Given the description of an element on the screen output the (x, y) to click on. 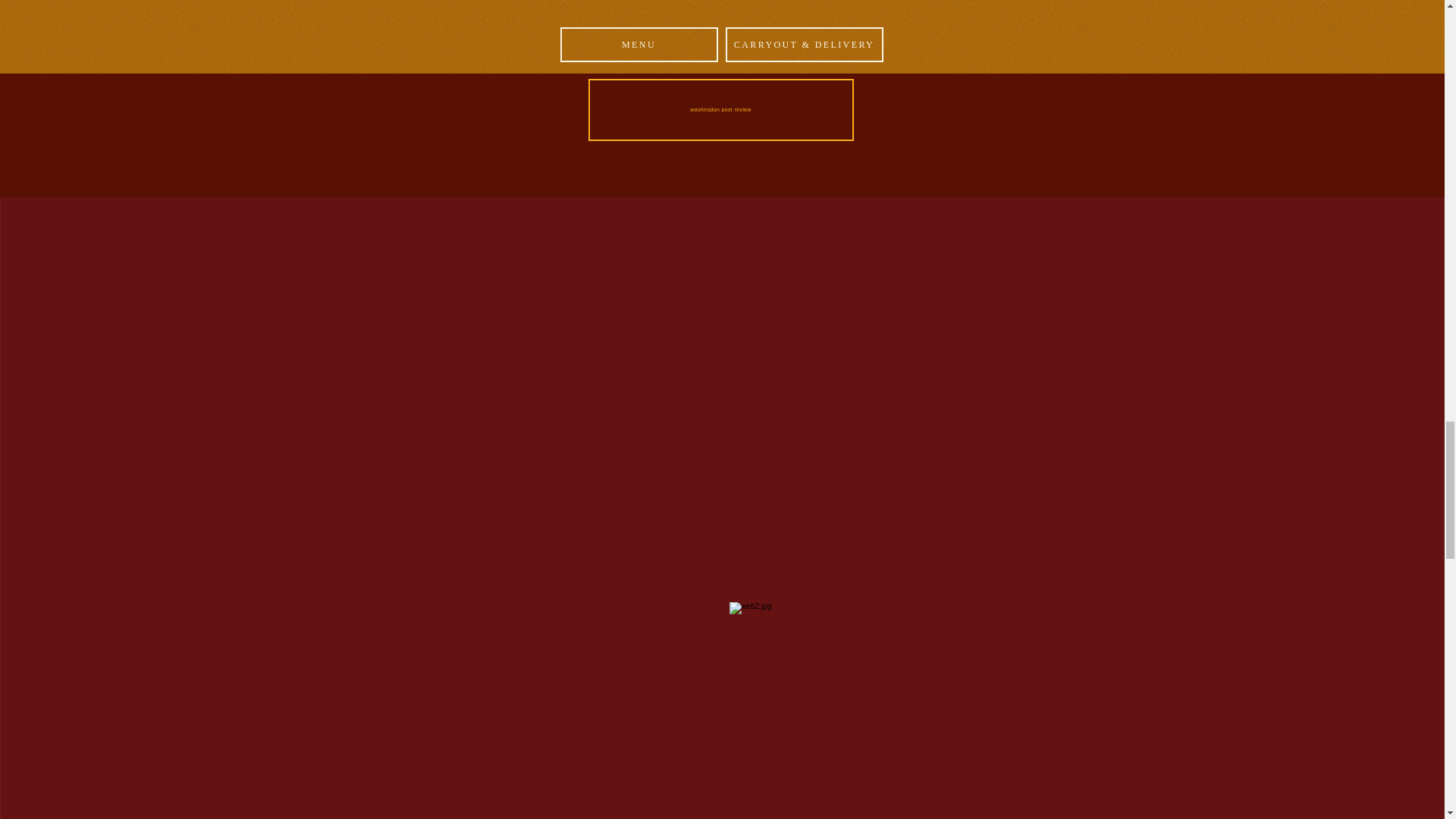
washington post review (720, 109)
